Given the description of an element on the screen output the (x, y) to click on. 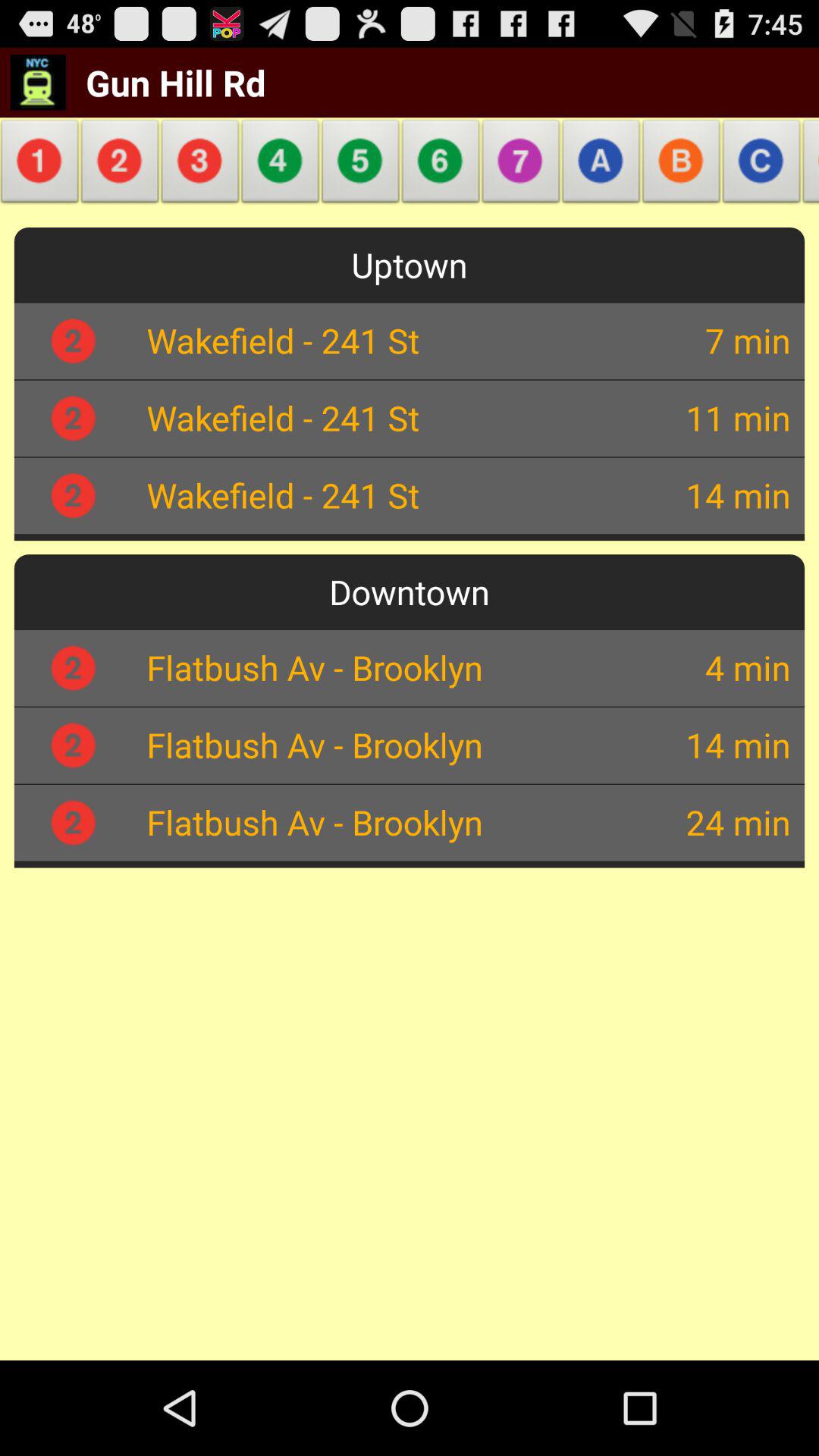
click the icon above uptown icon (280, 165)
